Given the description of an element on the screen output the (x, y) to click on. 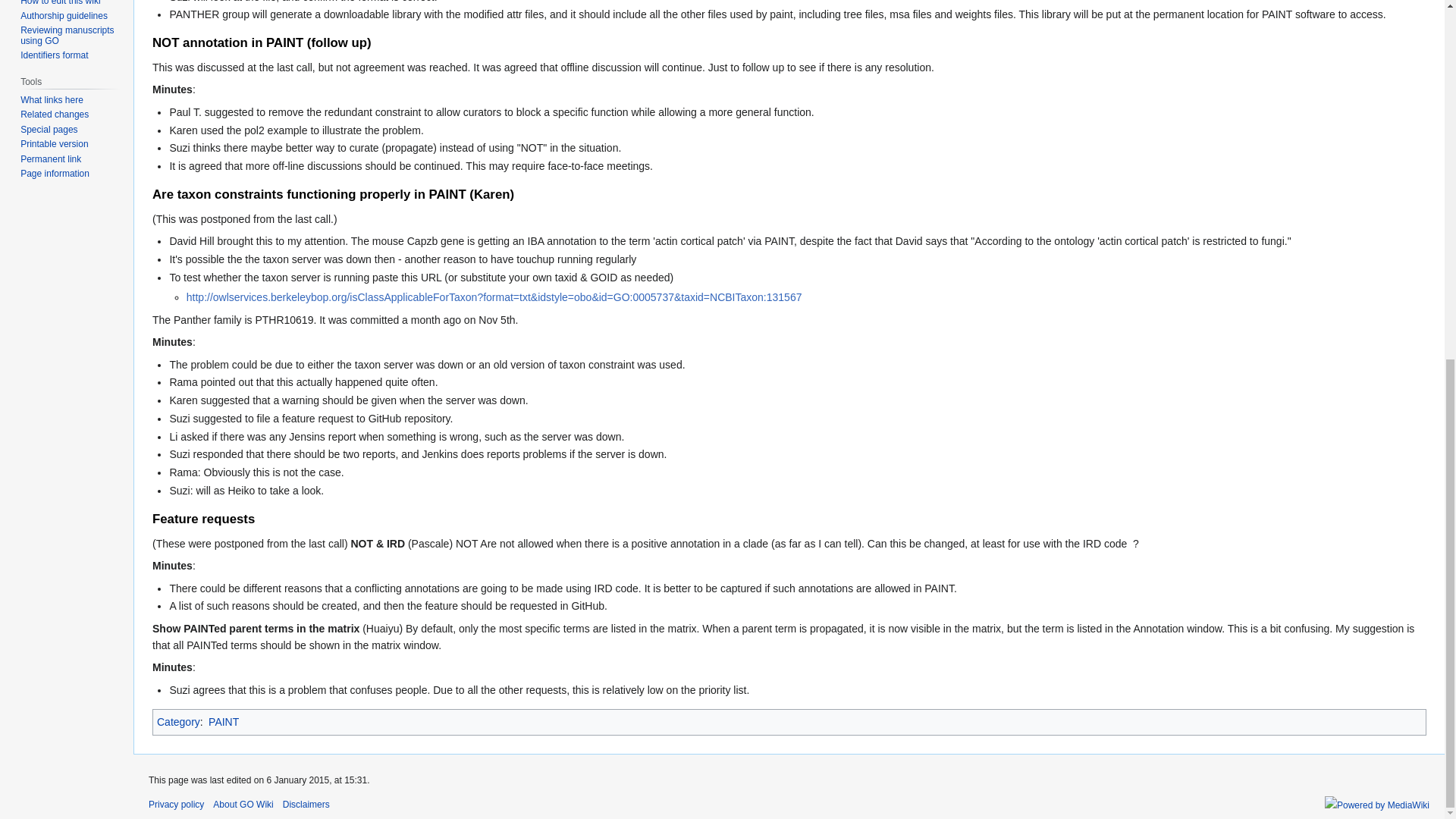
Category:PAINT (223, 721)
Special:Categories (178, 721)
PAINT (223, 721)
Category (178, 721)
